Given the description of an element on the screen output the (x, y) to click on. 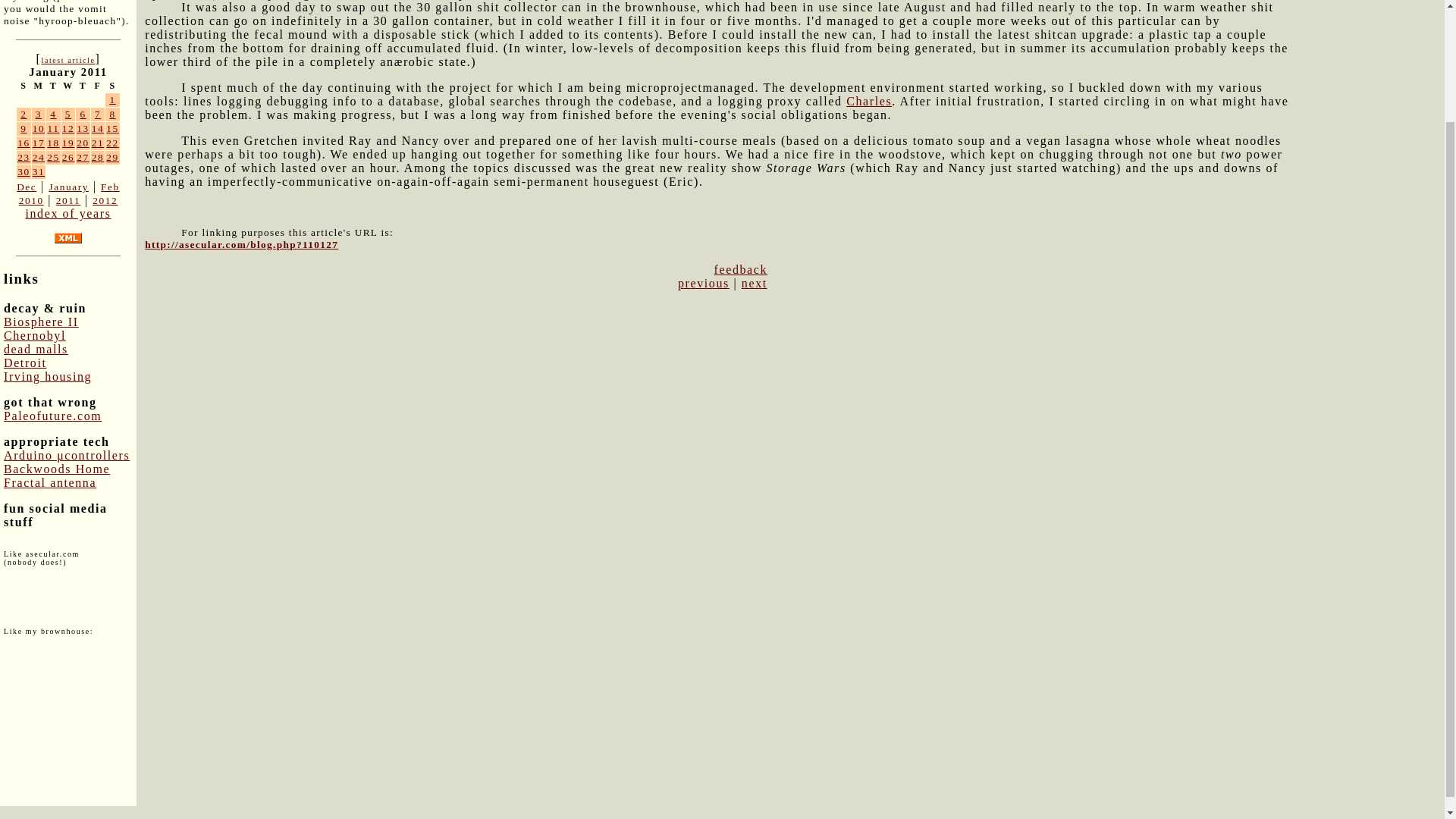
16 (23, 142)
Feb (109, 186)
11 (52, 128)
14 (97, 128)
17 (38, 142)
29 (112, 156)
18 (52, 142)
10 (38, 128)
2010 (30, 200)
15 (112, 128)
